Given the description of an element on the screen output the (x, y) to click on. 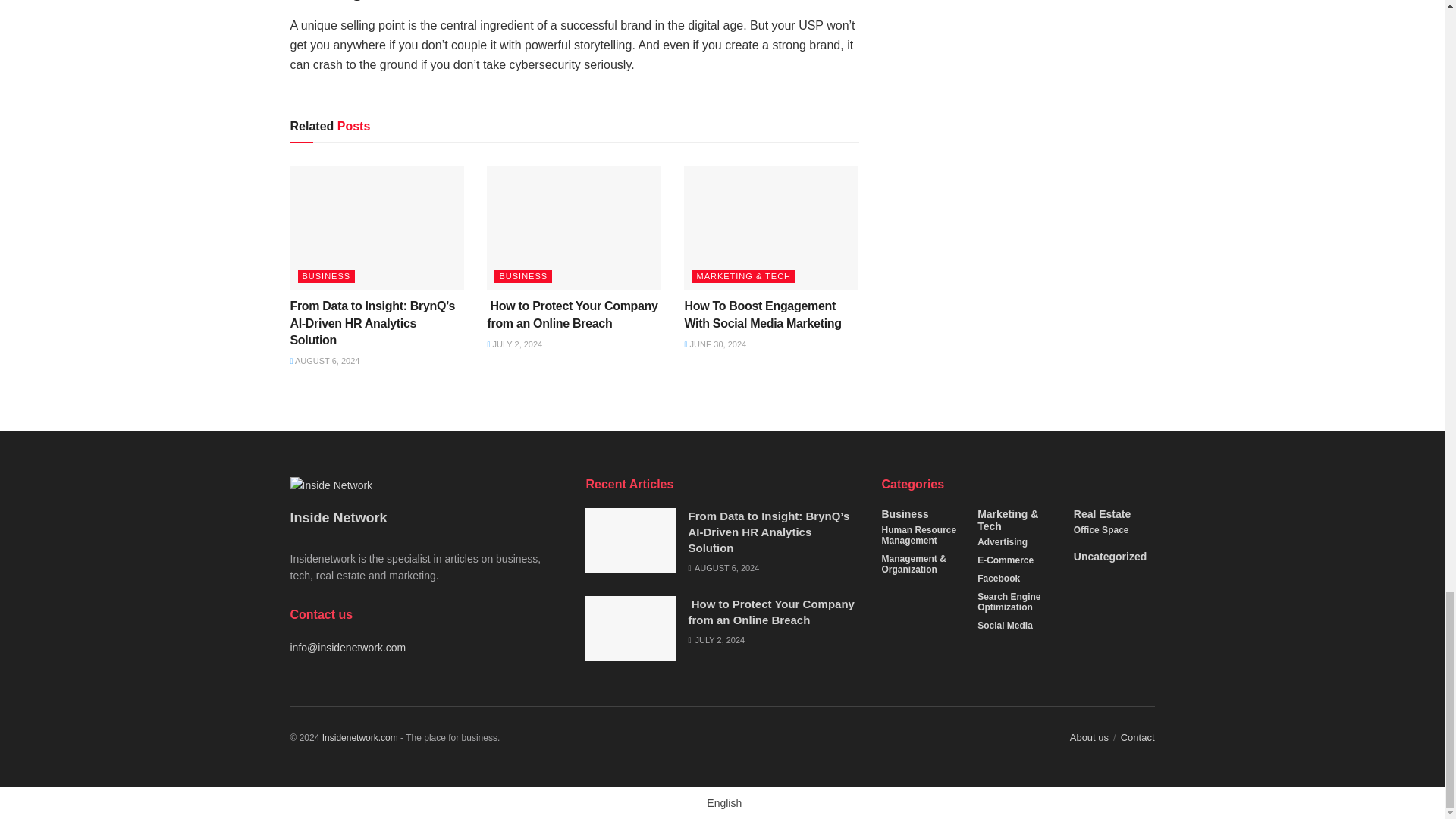
AUGUST 6, 2024 (324, 360)
Inside Network (359, 737)
BUSINESS (326, 276)
